Given the description of an element on the screen output the (x, y) to click on. 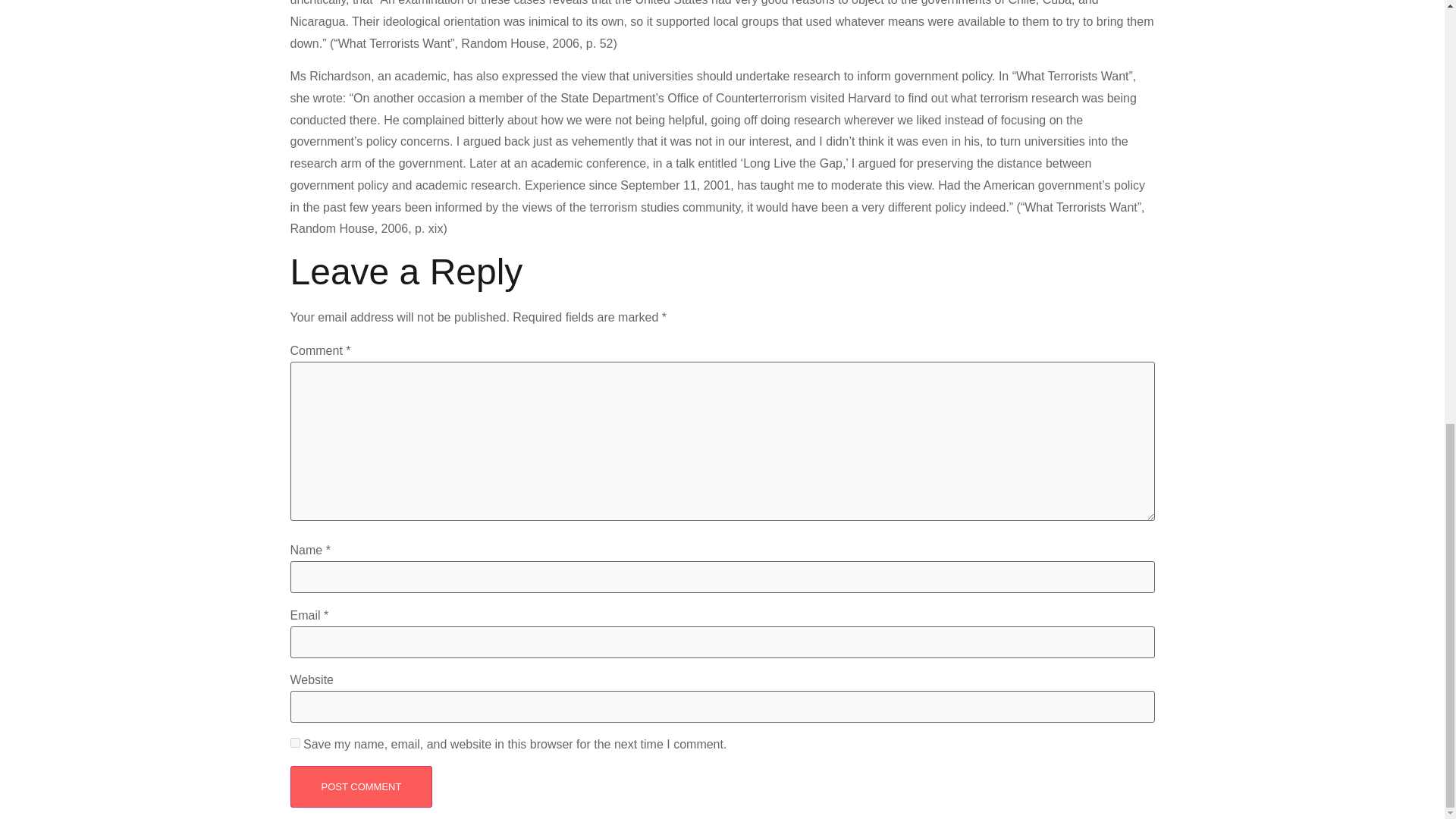
Post Comment (360, 786)
yes (294, 742)
Post Comment (360, 786)
